Given the description of an element on the screen output the (x, y) to click on. 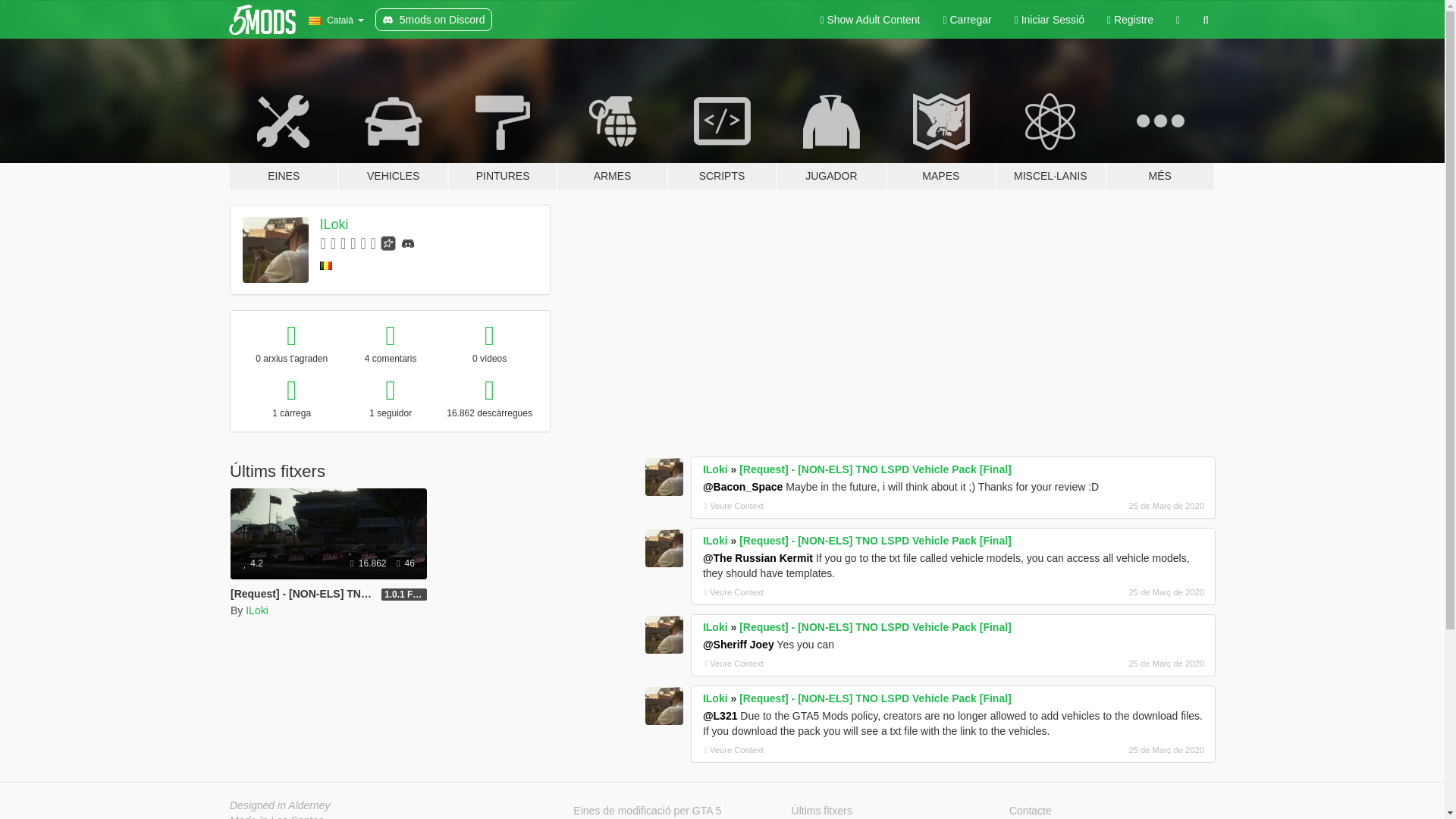
Carregar (967, 19)
4.2 star rating (253, 562)
Rockstar Games Social Club (388, 243)
Registre (1130, 19)
Show Adult Content (869, 19)
5mods on Discord (433, 19)
Light mode (869, 19)
1.0.1 Final (403, 594)
Discord Server (407, 243)
46 Agradan (405, 562)
ILoki (256, 610)
